Given the description of an element on the screen output the (x, y) to click on. 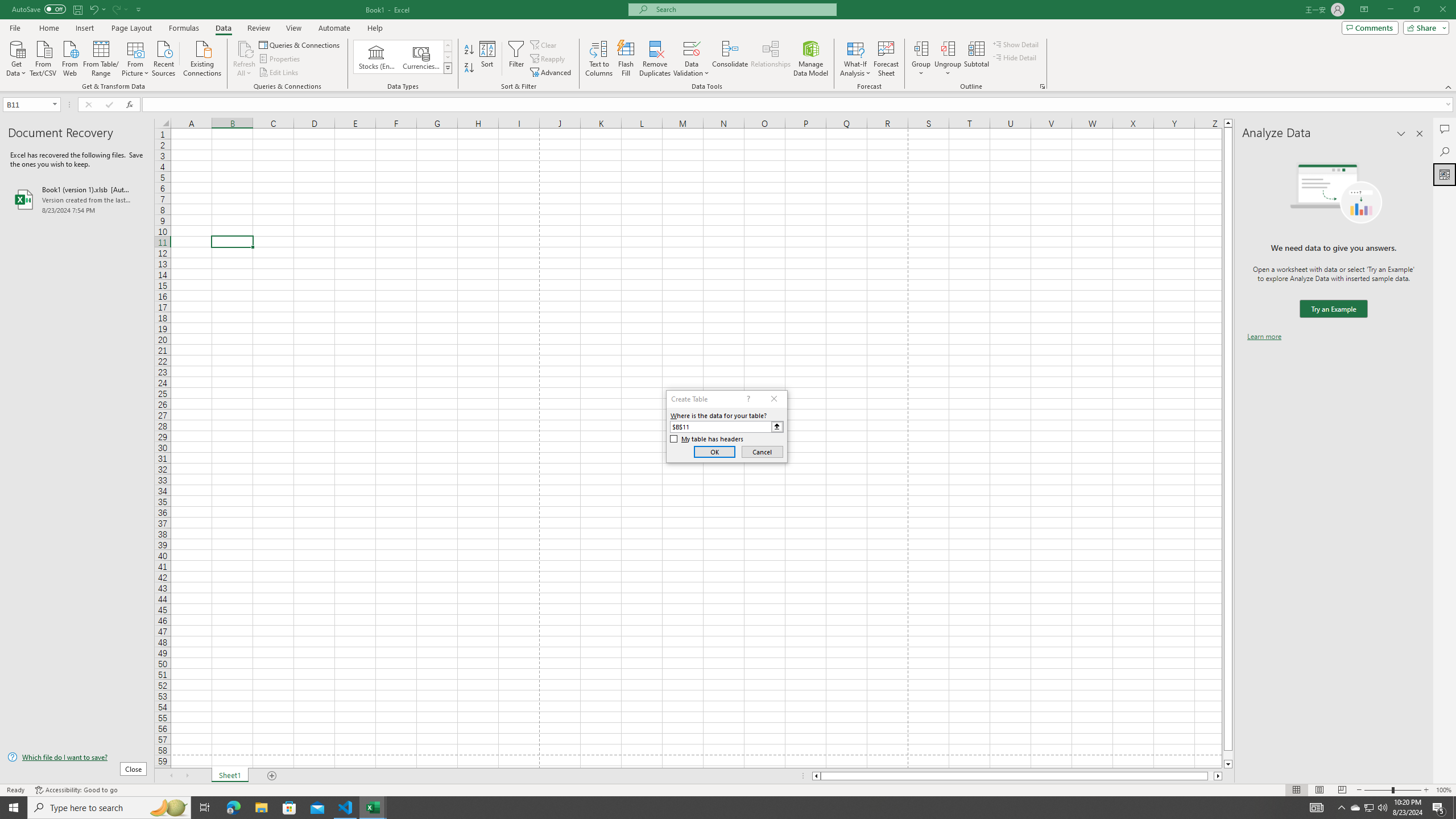
Currencies (English) (420, 56)
Edit Links (279, 72)
Group and Outline Settings (1042, 85)
Forecast Sheet (885, 58)
From Table/Range (100, 57)
